Given the description of an element on the screen output the (x, y) to click on. 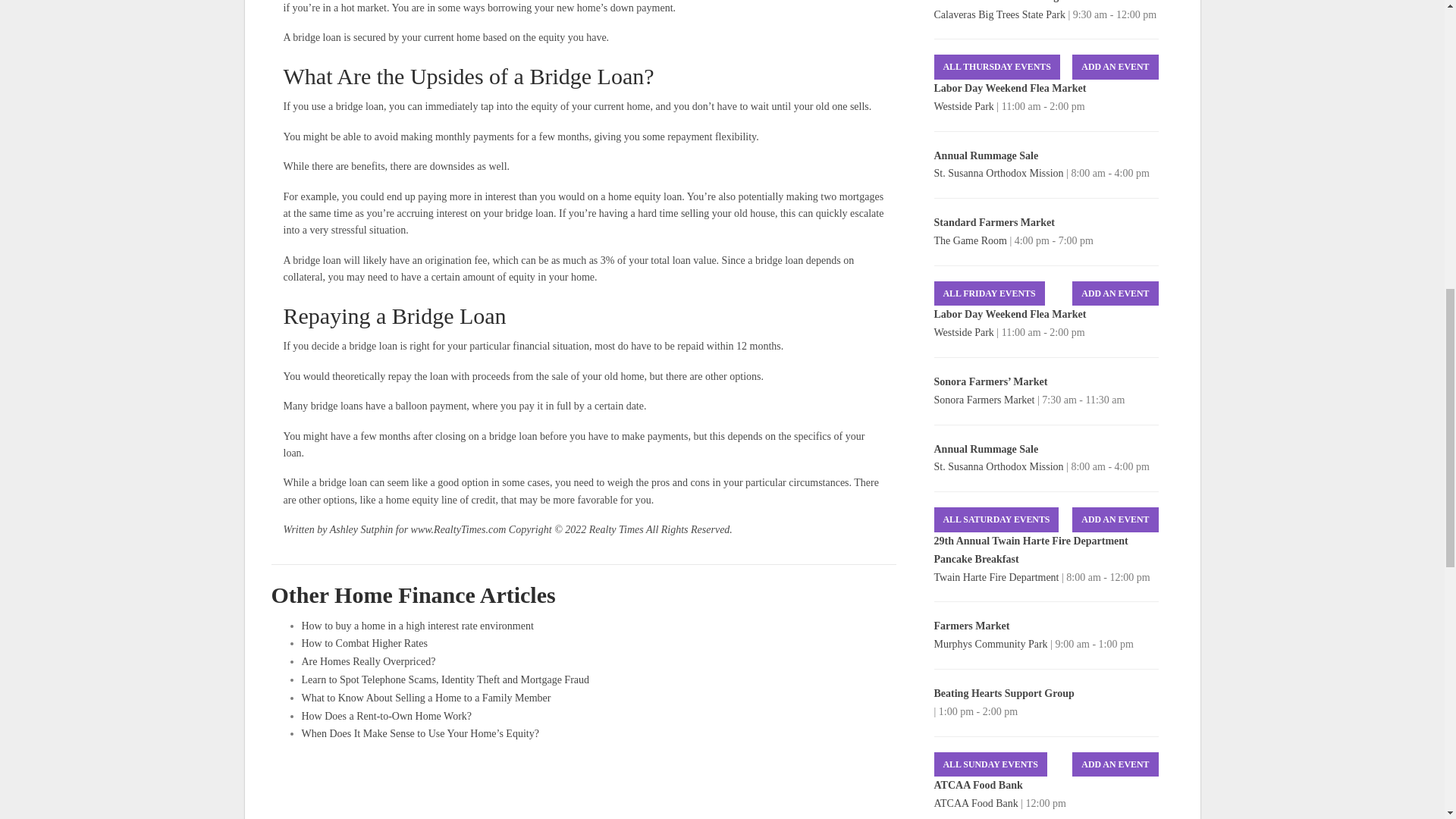
Add An Event (1114, 66)
All Thursday Events (996, 66)
All Friday Events (989, 293)
Add An Event (1114, 293)
All Saturday Events (996, 519)
Add An Event (1114, 764)
Add An Event (1114, 519)
All Sunday Events (990, 764)
